Given the description of an element on the screen output the (x, y) to click on. 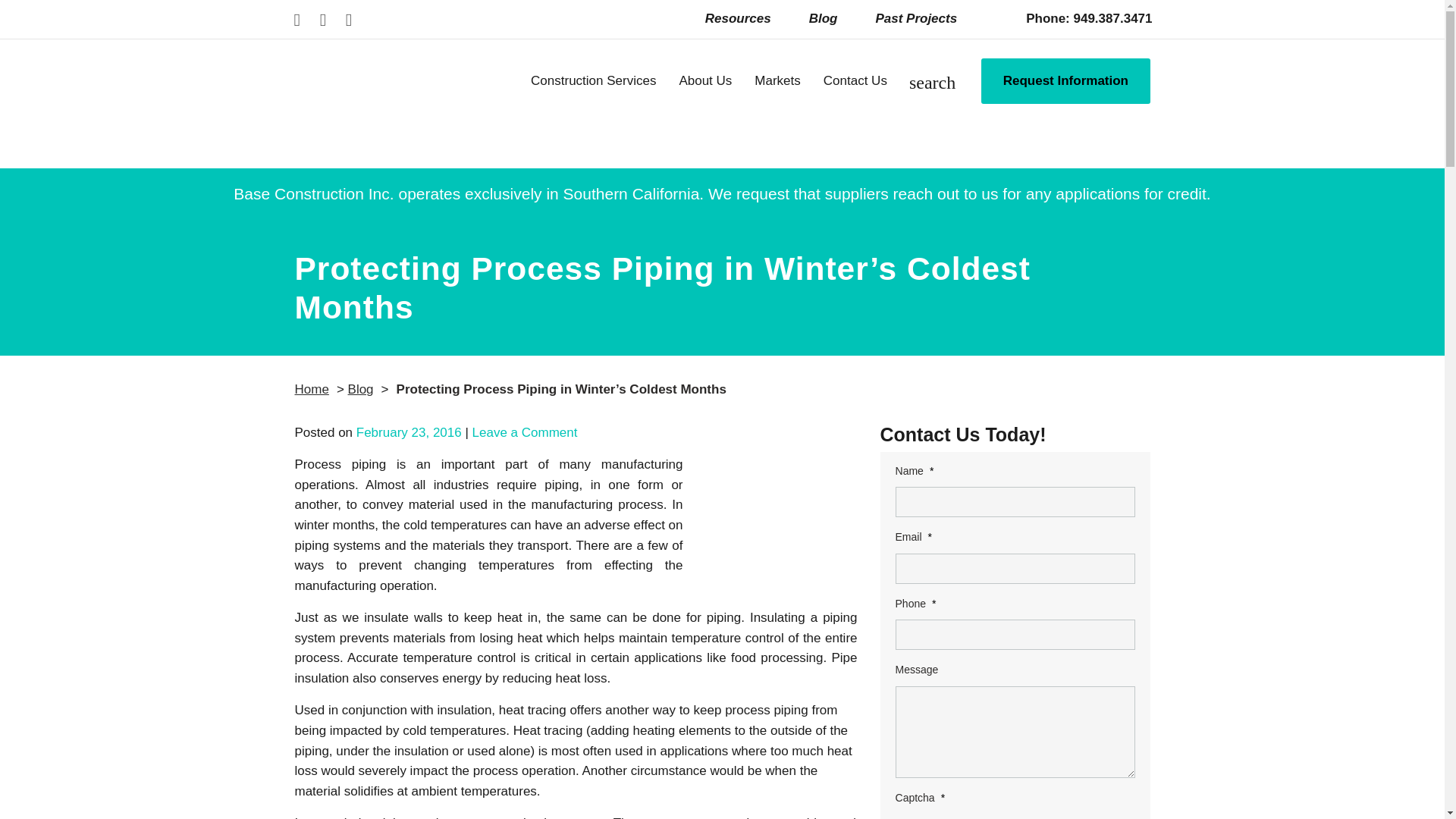
Twitter (349, 19)
Construction Services (592, 93)
About Us (704, 93)
Construction Services (592, 93)
Markets (776, 93)
Base Construction, Inc. (388, 111)
Resources (737, 19)
Blog (823, 19)
9493873471 (1080, 18)
search (931, 84)
Blog (823, 19)
Linkedin (323, 19)
Phone: 949.387.3471 (1080, 18)
Resources (737, 19)
Past Projects (915, 19)
